Given the description of an element on the screen output the (x, y) to click on. 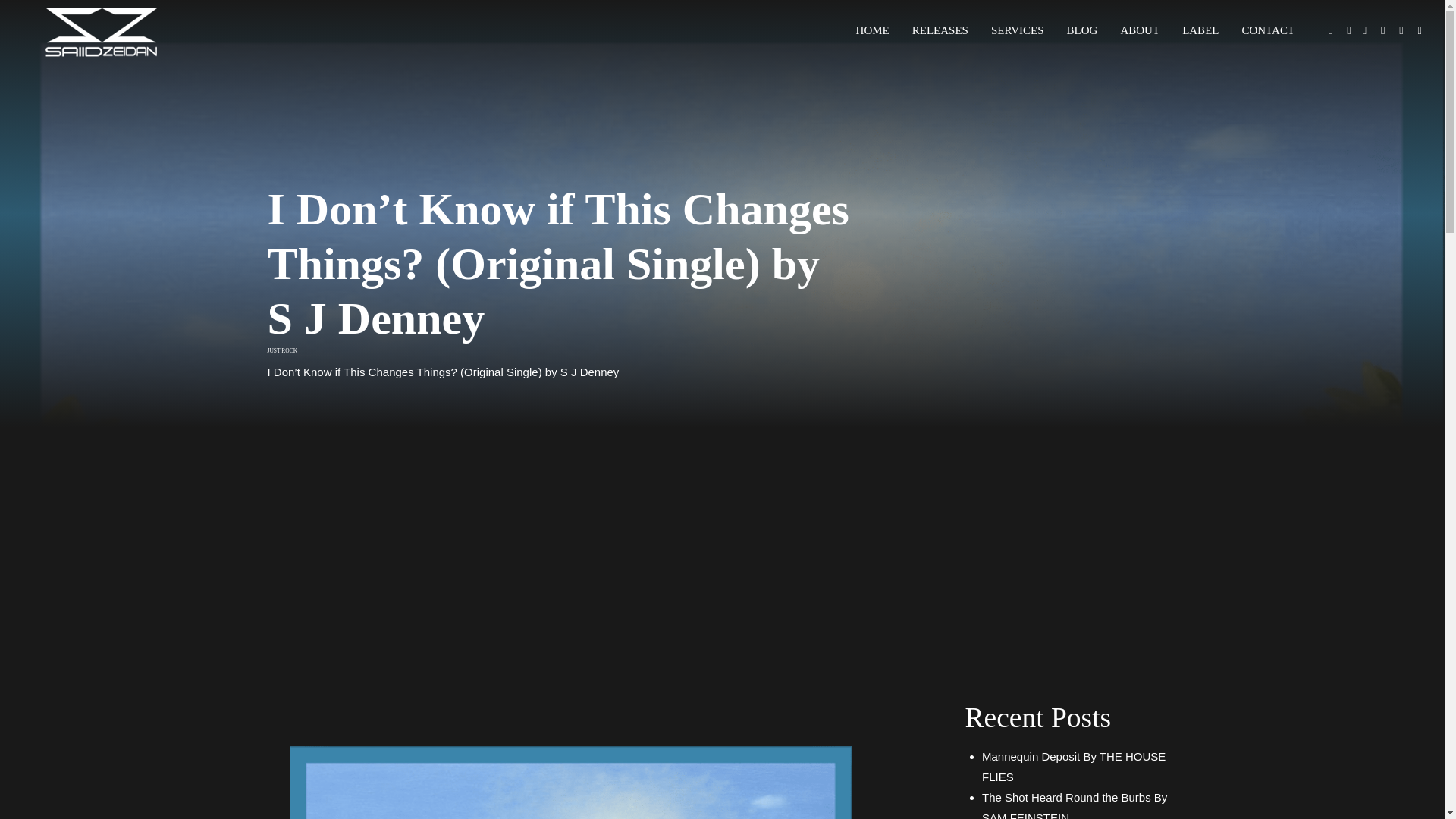
Mannequin Deposit By THE HOUSE FLIES (1073, 766)
RELEASES (940, 30)
JUST ROCK (281, 350)
The Shot Heard Round the Burbs By SAM FEINSTEIN (1074, 805)
